Given the description of an element on the screen output the (x, y) to click on. 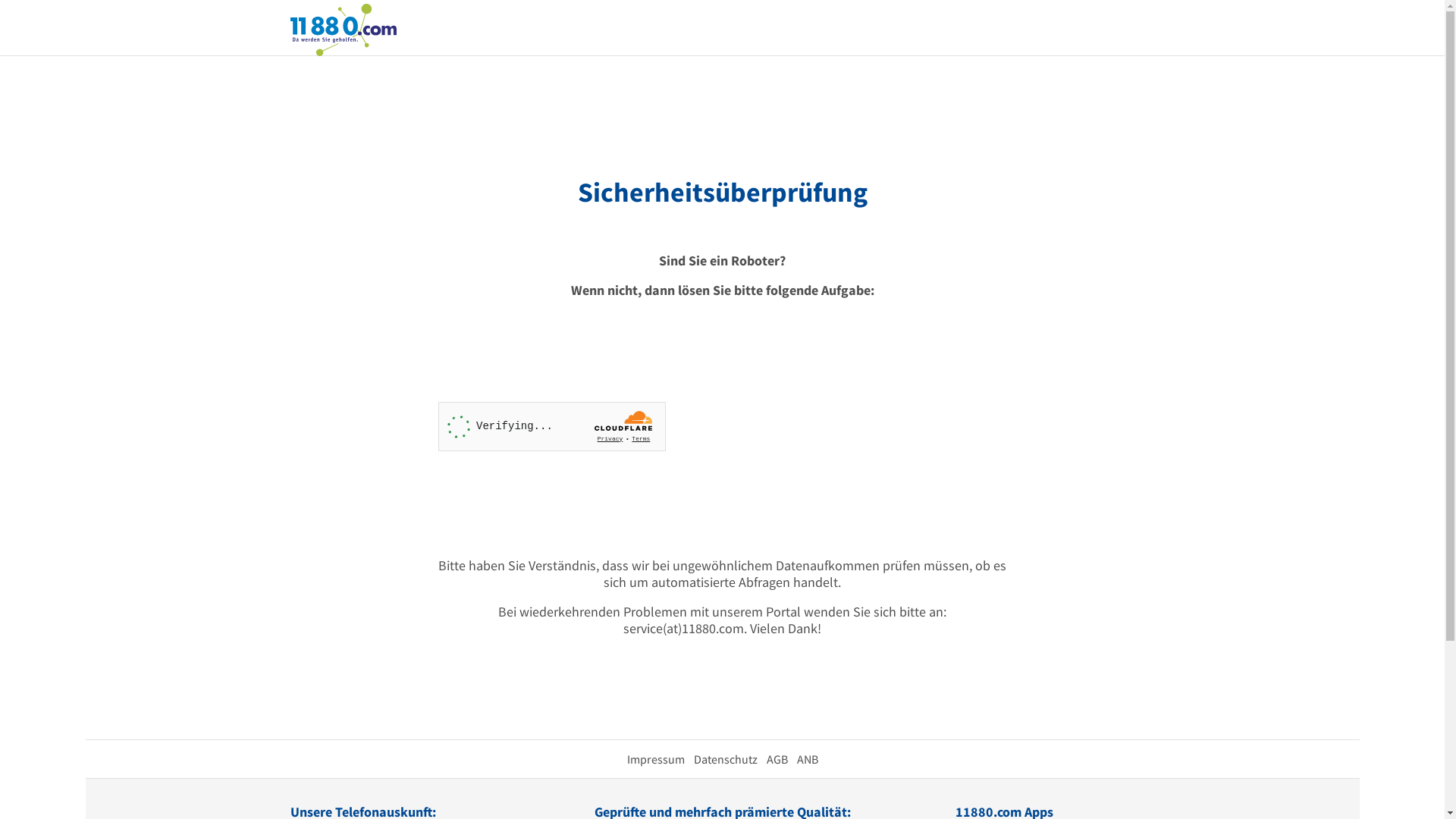
ANB Element type: text (806, 758)
Impressum Element type: text (655, 758)
Datenschutz Element type: text (724, 758)
Widget containing a Cloudflare security challenge Element type: hover (551, 426)
11880.com Element type: hover (342, 28)
AGB Element type: text (776, 758)
